Given the description of an element on the screen output the (x, y) to click on. 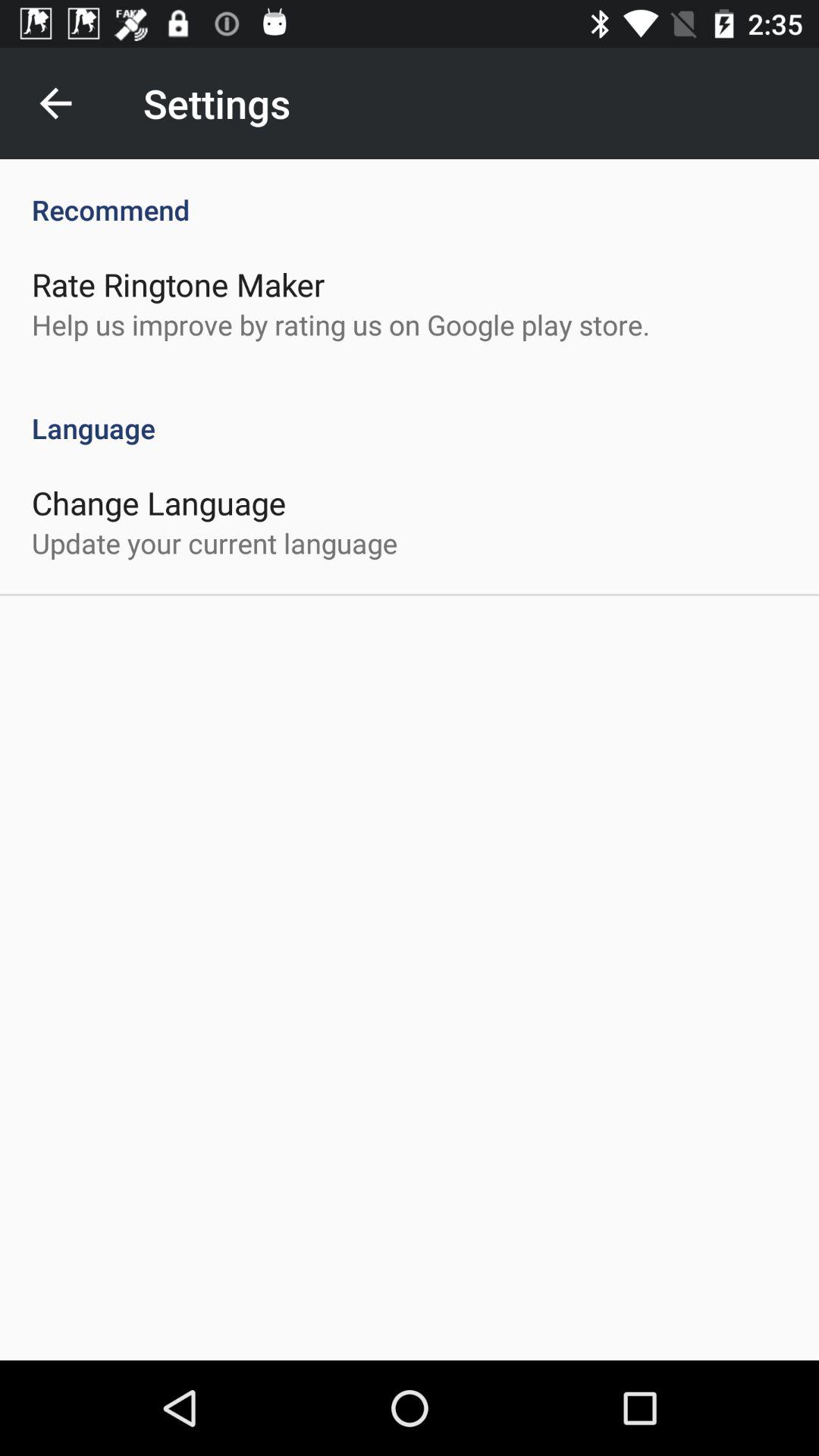
scroll until rate ringtone maker item (177, 283)
